Given the description of an element on the screen output the (x, y) to click on. 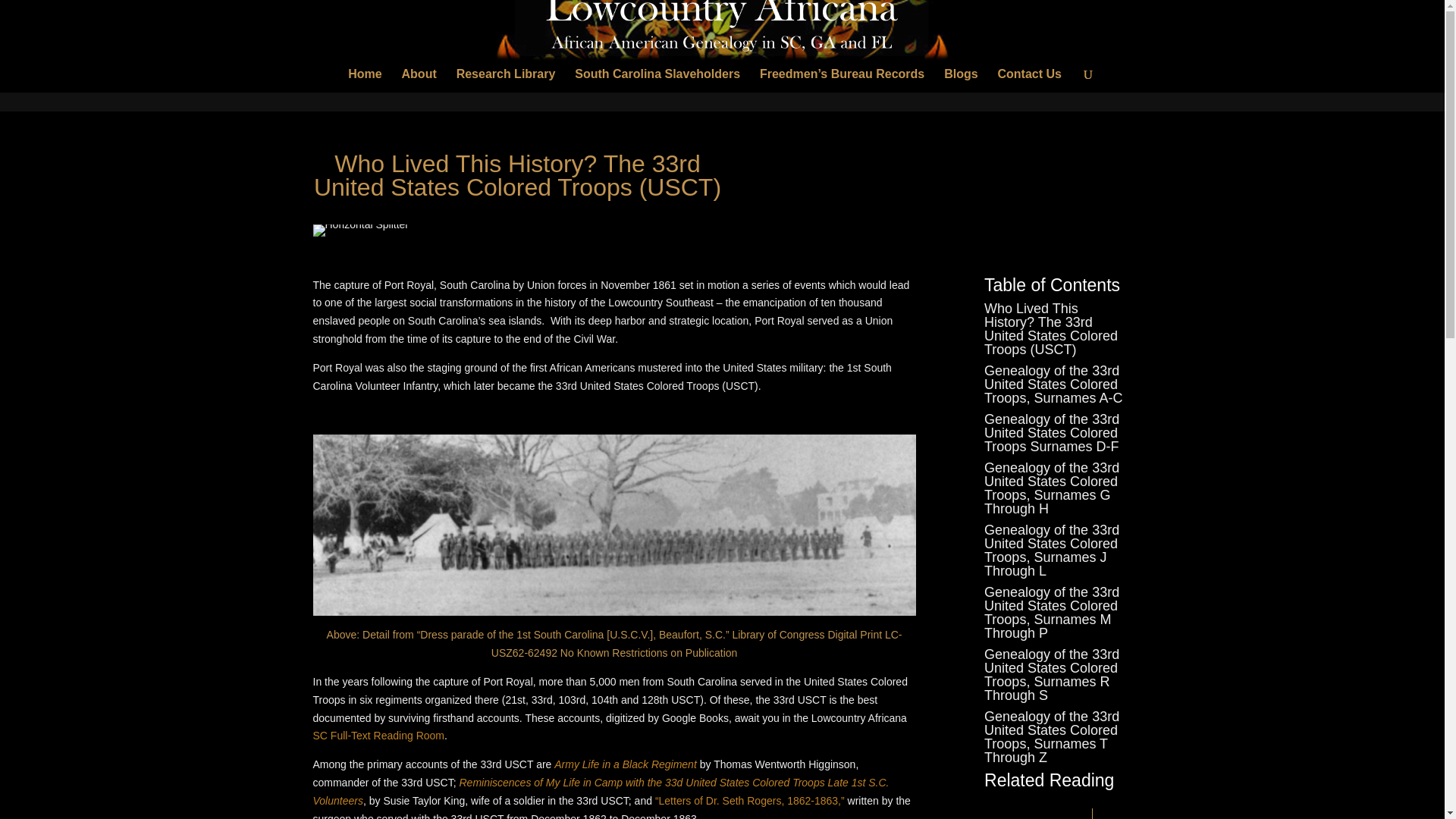
Army Life in a Black Regiment (625, 764)
About (418, 79)
SC Full-Text Reading Room (378, 735)
Home (364, 79)
Research Library (506, 79)
Contact Us (1029, 79)
South Carolina Slaveholders (657, 79)
Blogs (959, 79)
